Given the description of an element on the screen output the (x, y) to click on. 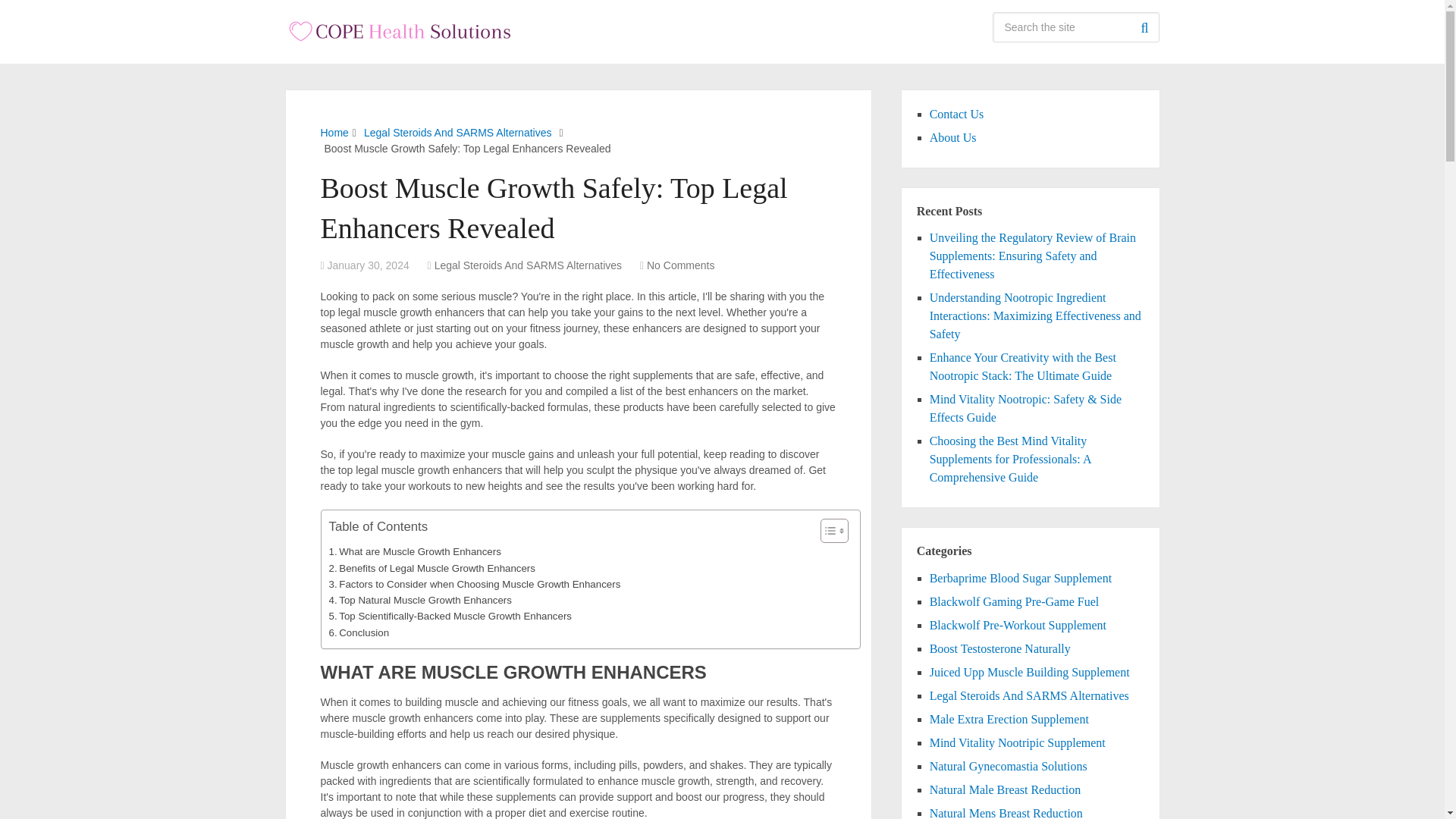
Natural Male Breast Reduction (1005, 789)
What are Muscle Growth Enhancers (414, 551)
No Comments (680, 265)
Contact Us (957, 113)
What are Muscle Growth Enhancers (414, 551)
Boost Testosterone Naturally (1000, 648)
Berbaprime Blood Sugar Supplement (1021, 577)
Benefits of Legal Muscle Growth Enhancers (432, 568)
Top Natural Muscle Growth Enhancers (420, 600)
